Given the description of an element on the screen output the (x, y) to click on. 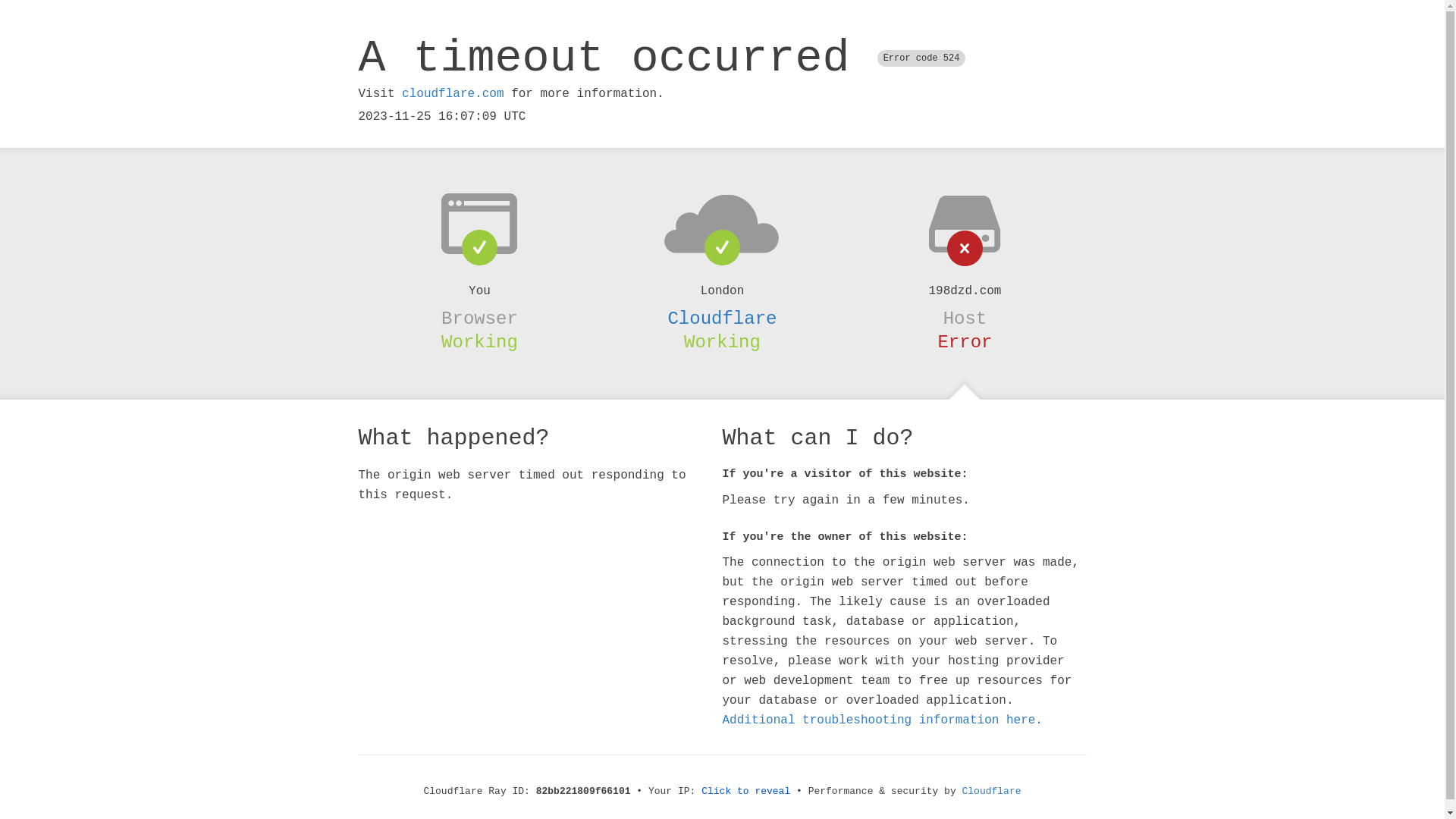
Additional troubleshooting information here. Element type: text (881, 720)
Click to reveal Element type: text (745, 791)
Cloudflare Element type: text (721, 318)
Cloudflare Element type: text (991, 791)
cloudflare.com Element type: text (452, 93)
